Given the description of an element on the screen output the (x, y) to click on. 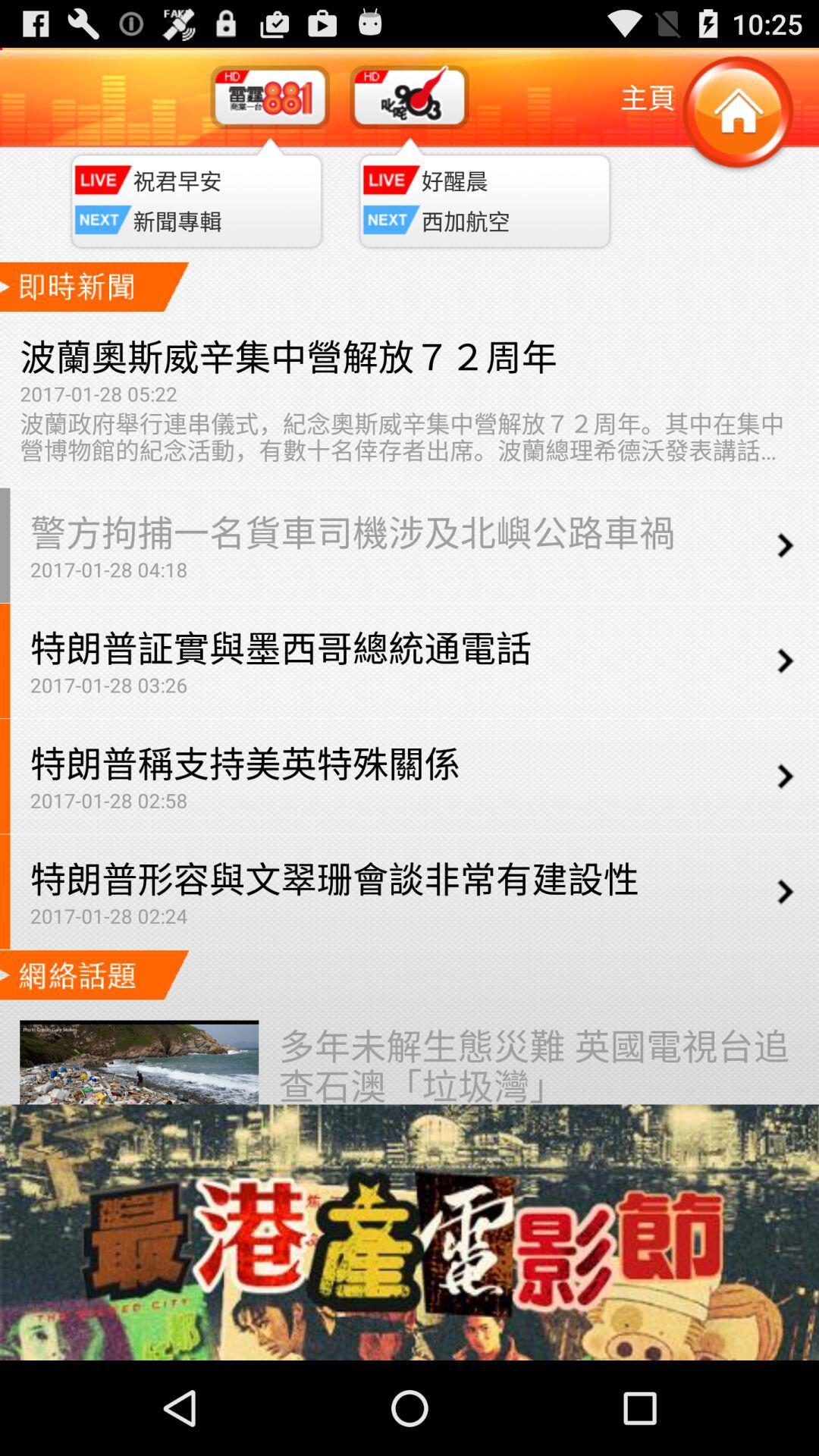
home button (737, 113)
